Given the description of an element on the screen output the (x, y) to click on. 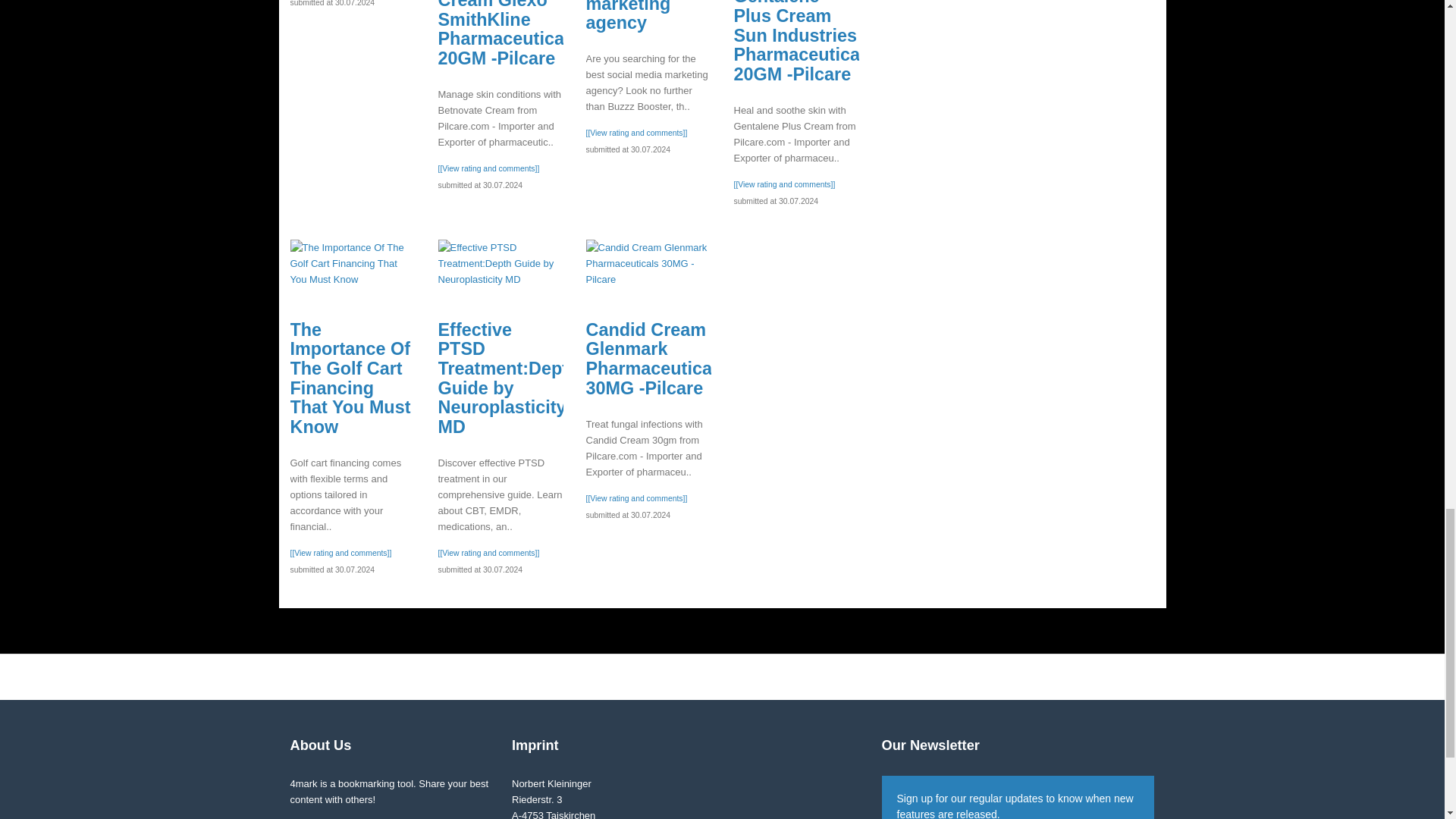
The Importance Of The Golf Cart Financing That You Must Know (351, 263)
Effective PTSD Treatment:Depth Guide by Neuroplasticity MD (500, 263)
Candid Cream Glenmark Pharmaceuticals 30MG -Pilcare (647, 263)
